Given the description of an element on the screen output the (x, y) to click on. 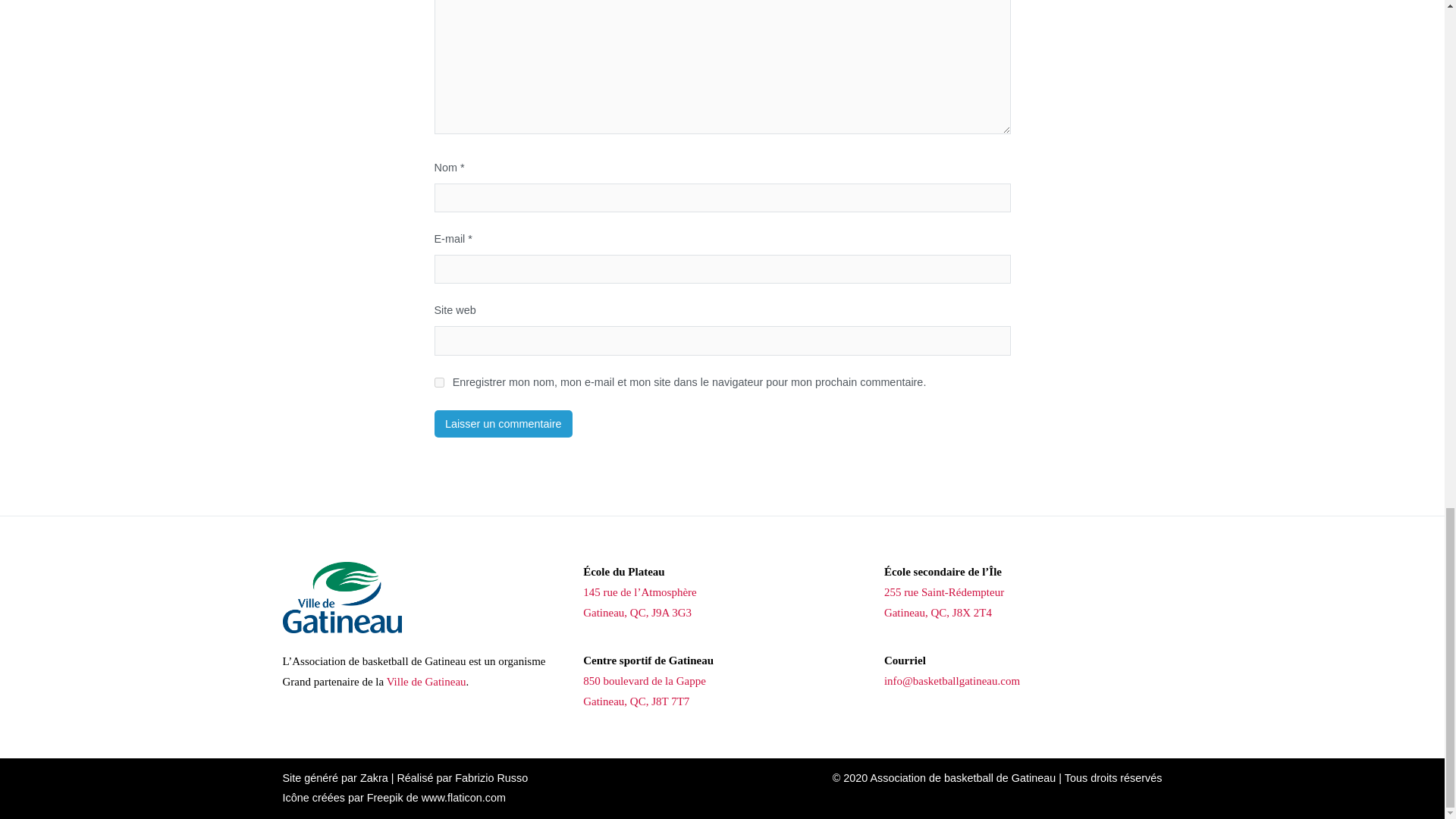
yes (438, 382)
Flaticon (463, 797)
Gatineau, QC, J8T 7T7 (635, 701)
Laisser un commentaire (502, 423)
Zakra (373, 777)
Laisser un commentaire (502, 423)
www.flaticon.com (463, 797)
850 boulevard de la Gappe (644, 680)
Fabrizio Russo (490, 777)
Gatineau, QC, J9A 3G3 (637, 612)
Freepik (384, 797)
Freepik (384, 797)
Gatineau, QC, J8X 2T4 (937, 612)
Ville de Gatineau (426, 681)
